Given the description of an element on the screen output the (x, y) to click on. 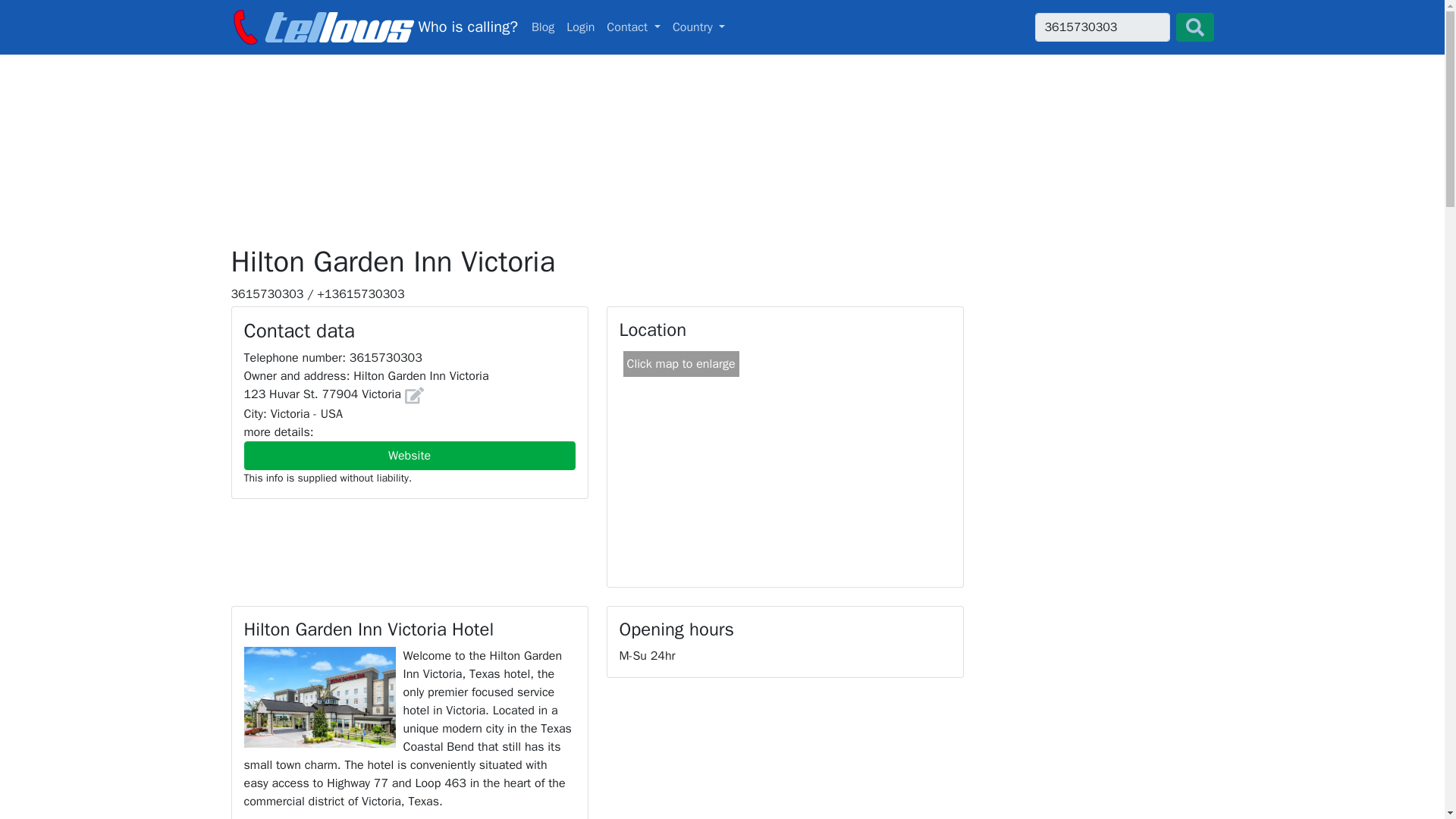
Blog (542, 27)
3615730303 (1101, 27)
tellows - the community for calls, phone spam and complaints (373, 26)
Login (579, 27)
Country (699, 27)
Website (409, 455)
Blog (542, 27)
Who is calling? (373, 26)
Contact (632, 27)
